Given the description of an element on the screen output the (x, y) to click on. 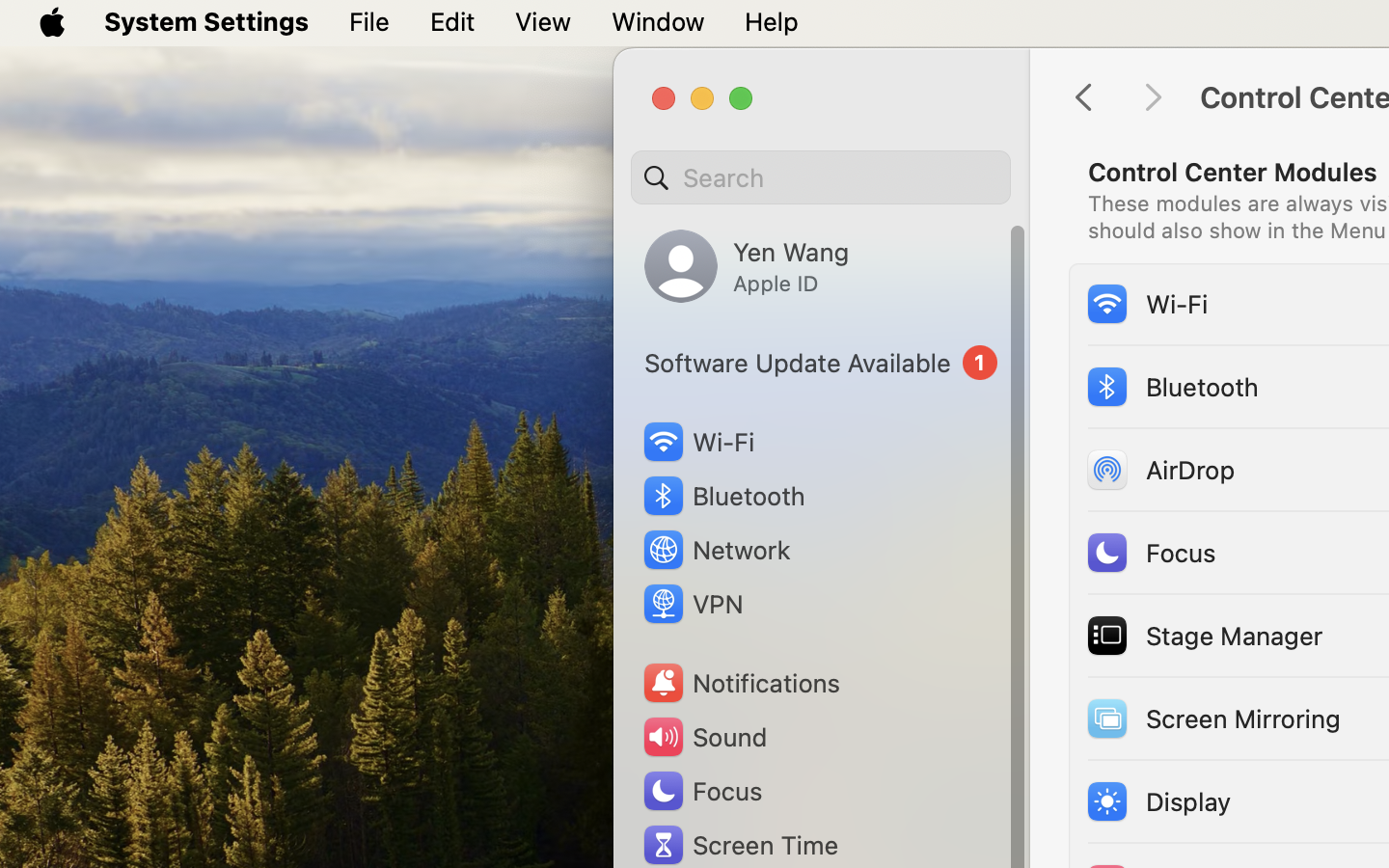
AirDrop Element type: AXStaticText (1159, 468)
VPN Element type: AXStaticText (691, 603)
Screen Time Element type: AXStaticText (739, 844)
Display Element type: AXStaticText (1157, 800)
